Given the description of an element on the screen output the (x, y) to click on. 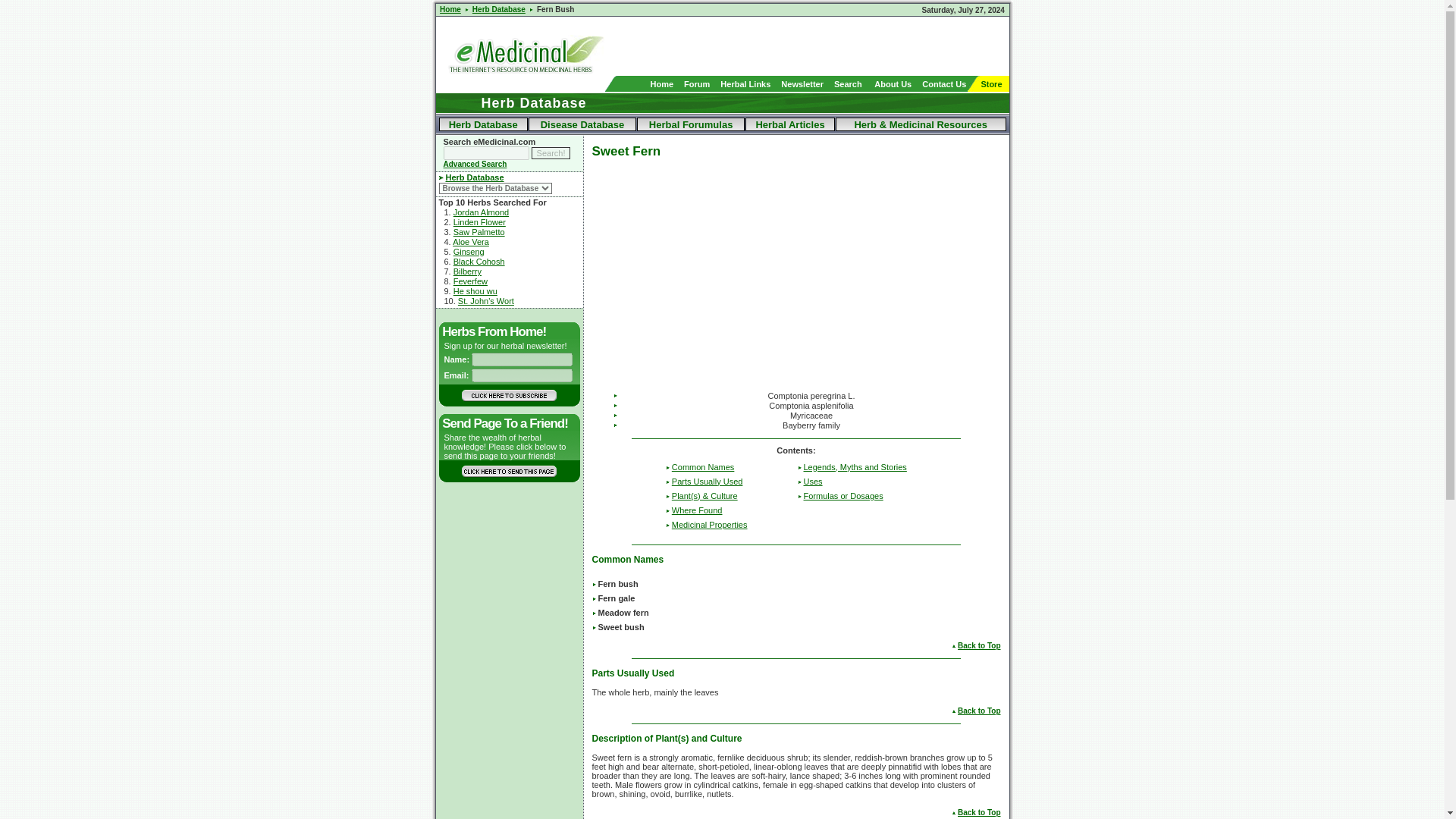
Herb Database (498, 8)
Forum (697, 82)
Herbal Forumulas (691, 123)
Herb Database (474, 176)
Home (450, 8)
About Us (893, 82)
Bilberry (466, 271)
Black Cohosh (478, 261)
Newsletter (802, 82)
Parts Usually Used (706, 481)
subscribe (508, 395)
Search! (550, 152)
Advertisement (831, 45)
Linden Flower (478, 221)
Advanced Search (474, 163)
